Given the description of an element on the screen output the (x, y) to click on. 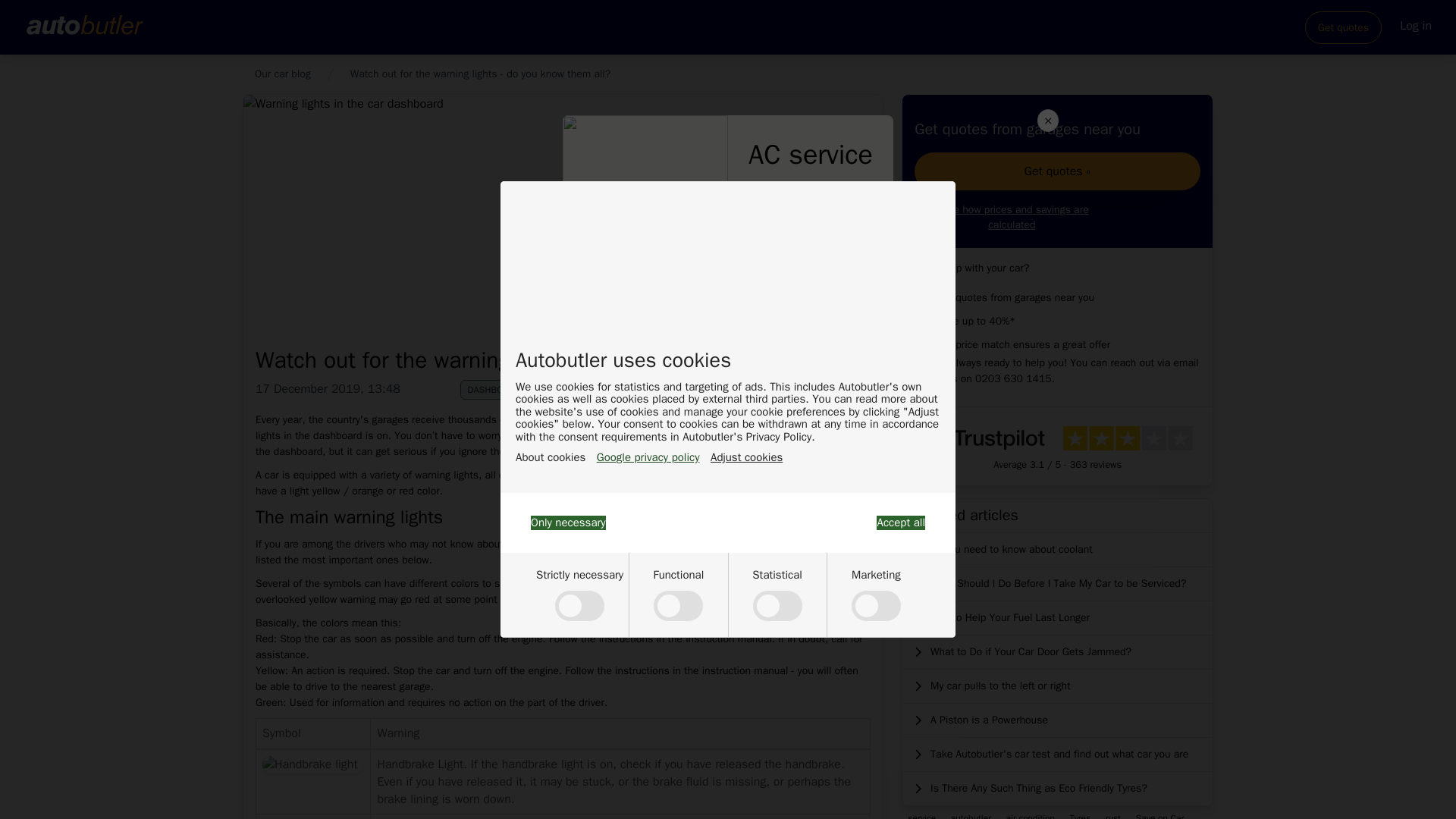
Google privacy policy (648, 457)
About cookies (550, 457)
Accept all (900, 522)
Adjust cookies (746, 457)
Only necessary (568, 522)
